Given the description of an element on the screen output the (x, y) to click on. 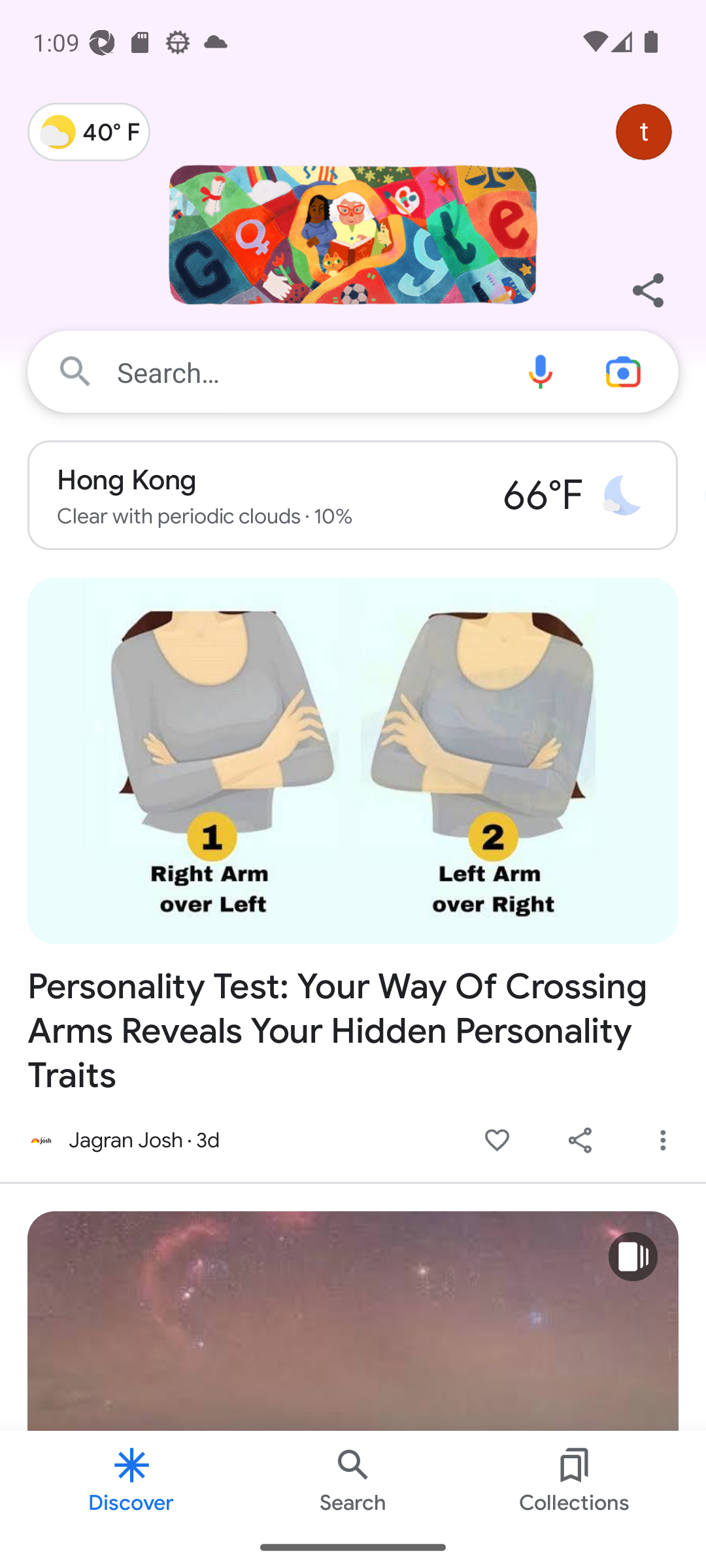
Partly cloudy 40° F (88, 131)
International Women's Day 2024 (353, 244)
Share doodle (647, 289)
Search… Search… Voice search Camera search (352, 371)
Voice search (540, 371)
Camera search (629, 371)
Like (496, 1140)
More options (662, 1140)
More options (662, 1140)
Search (352, 1478)
Collections Button Collections (573, 1478)
